Given the description of an element on the screen output the (x, y) to click on. 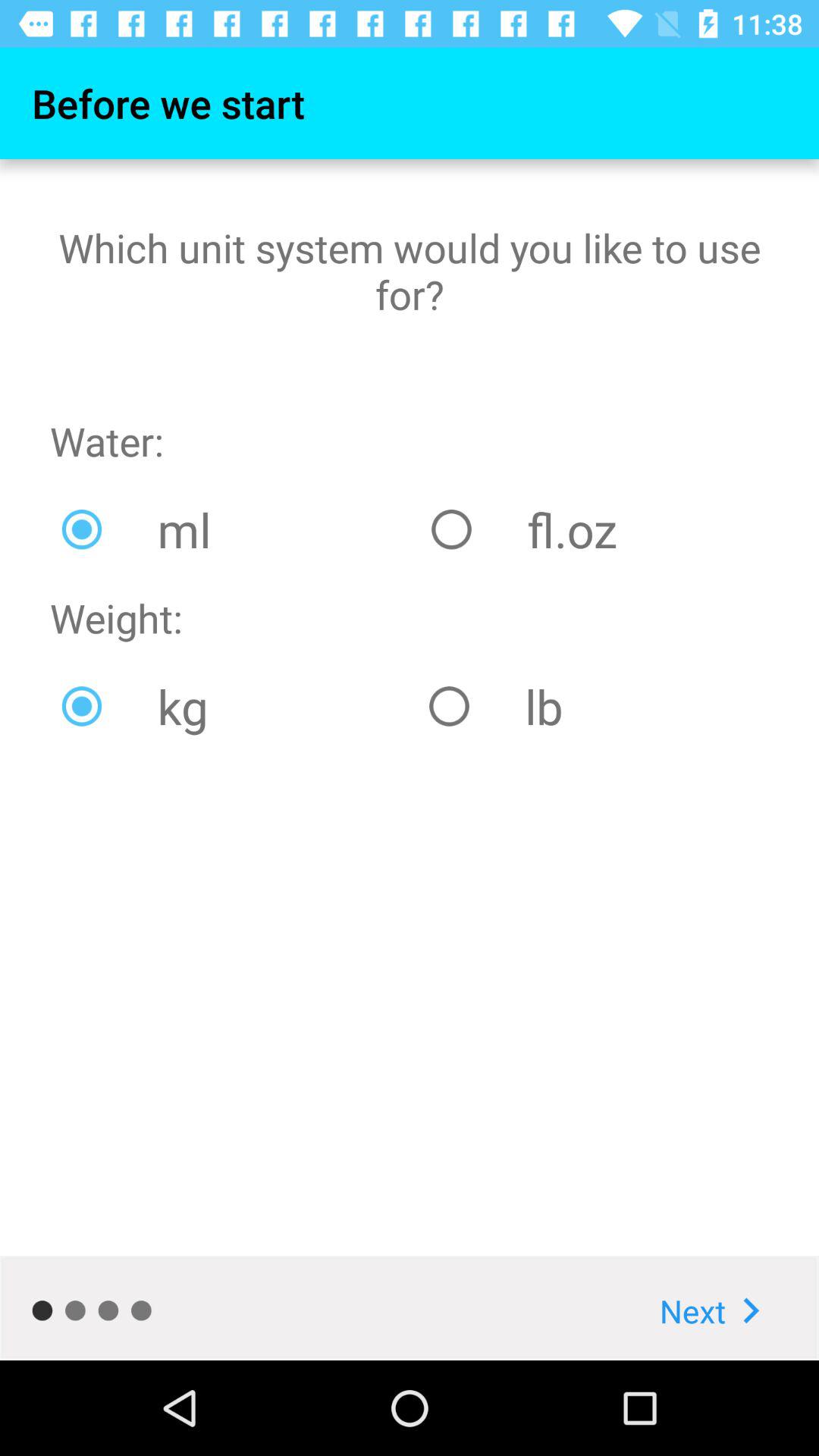
open item to the right of the kg (592, 706)
